Given the description of an element on the screen output the (x, y) to click on. 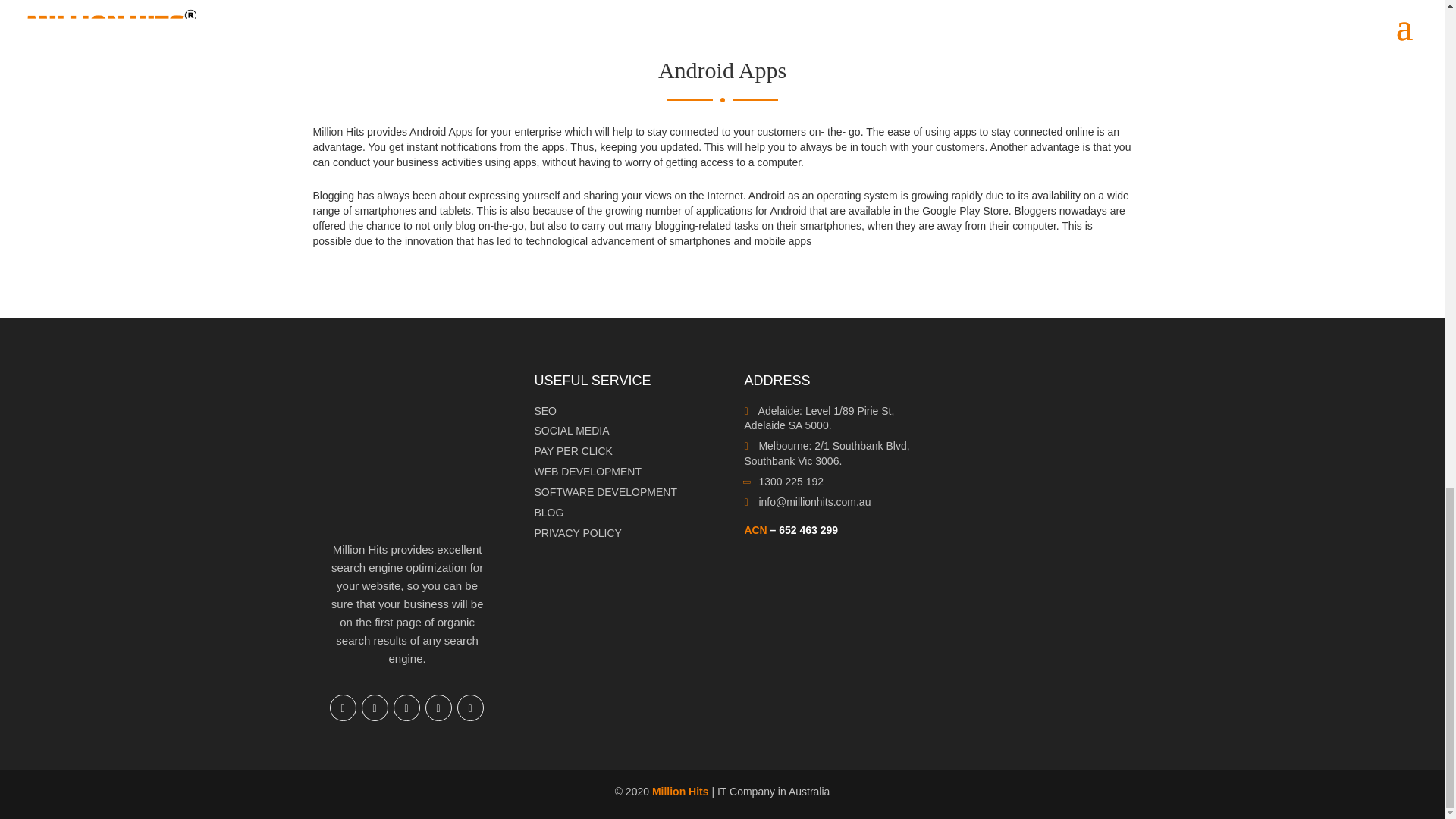
SOFTWARE DEVELOPMENT (605, 491)
PAY PER CLICK (572, 451)
SEO (545, 410)
1300 225 192 (784, 481)
PRIVACY POLICY (577, 532)
BLOG (548, 512)
WEB DEVELOPMENT (588, 471)
Million Hits (680, 791)
SOCIAL MEDIA (571, 430)
